Given the description of an element on the screen output the (x, y) to click on. 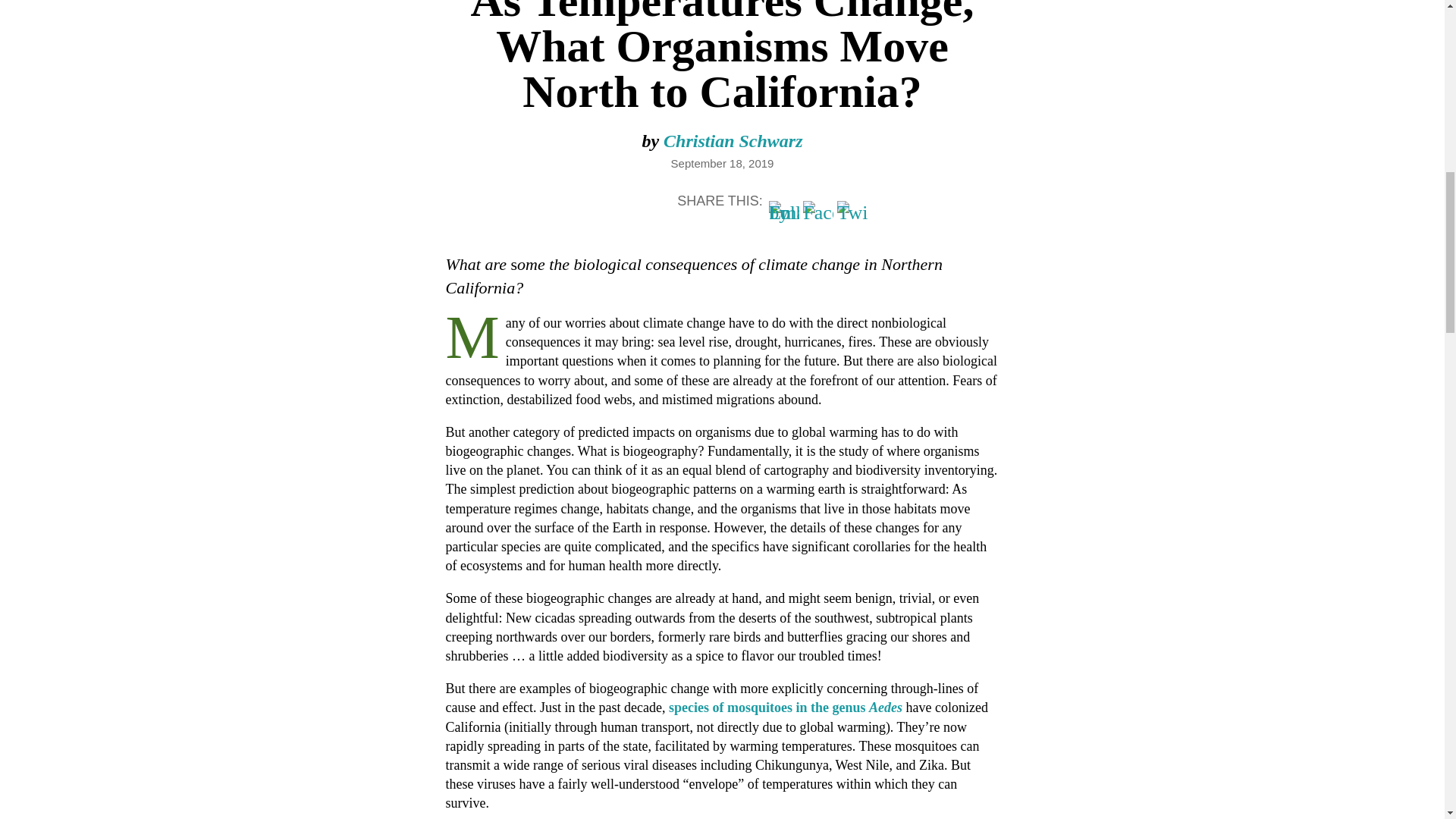
Posts by Christian Schwarz (732, 140)
Facebook (817, 215)
Follow by Email (783, 215)
species of mosquitoes in the genus (768, 707)
Christian Schwarz (732, 140)
Aedes (885, 707)
Twitter (852, 215)
